Given the description of an element on the screen output the (x, y) to click on. 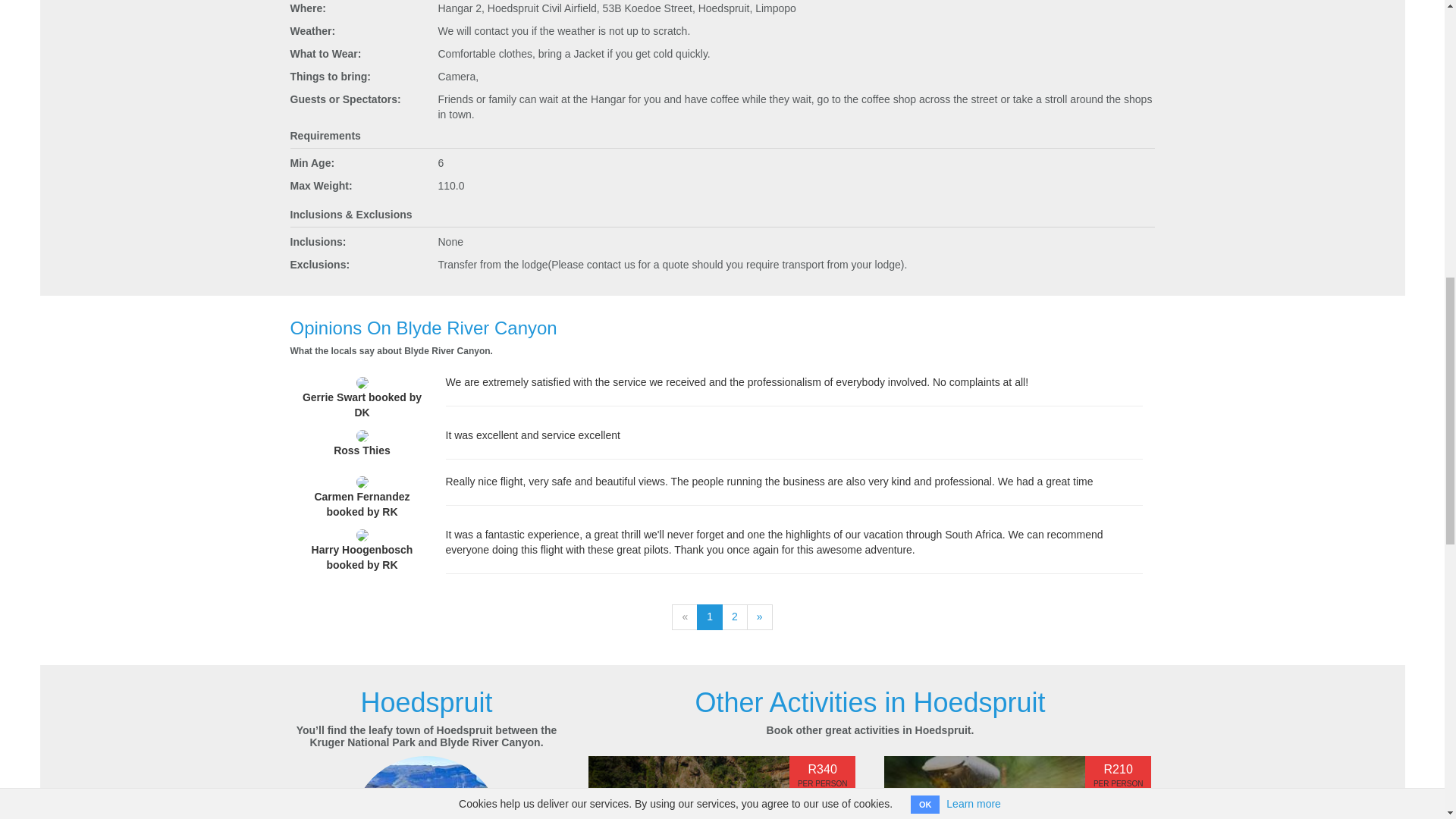
1 (709, 616)
2 (735, 616)
